Given the description of an element on the screen output the (x, y) to click on. 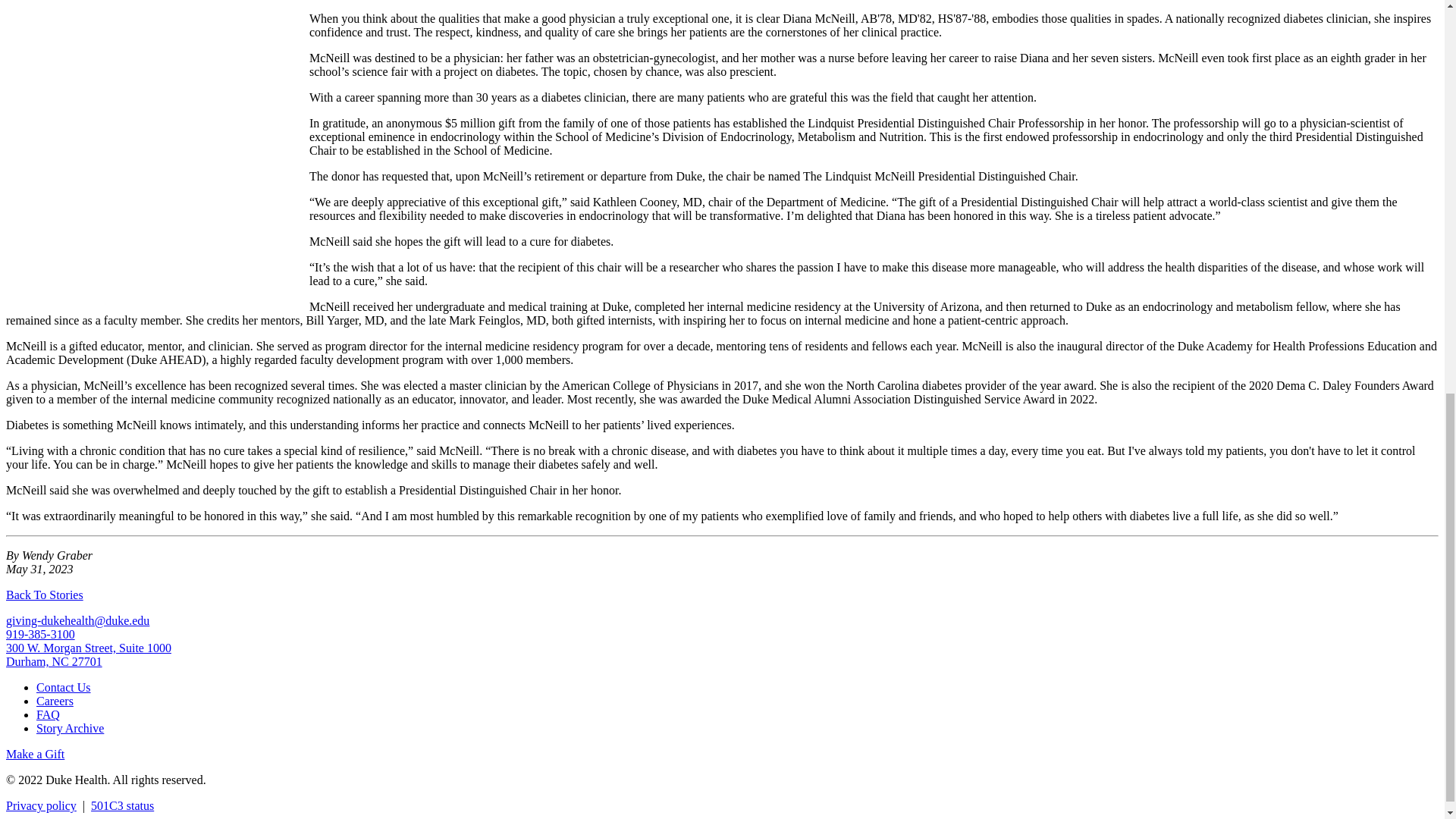
Careers (55, 700)
Frequently asked questions (47, 714)
